Given the description of an element on the screen output the (x, y) to click on. 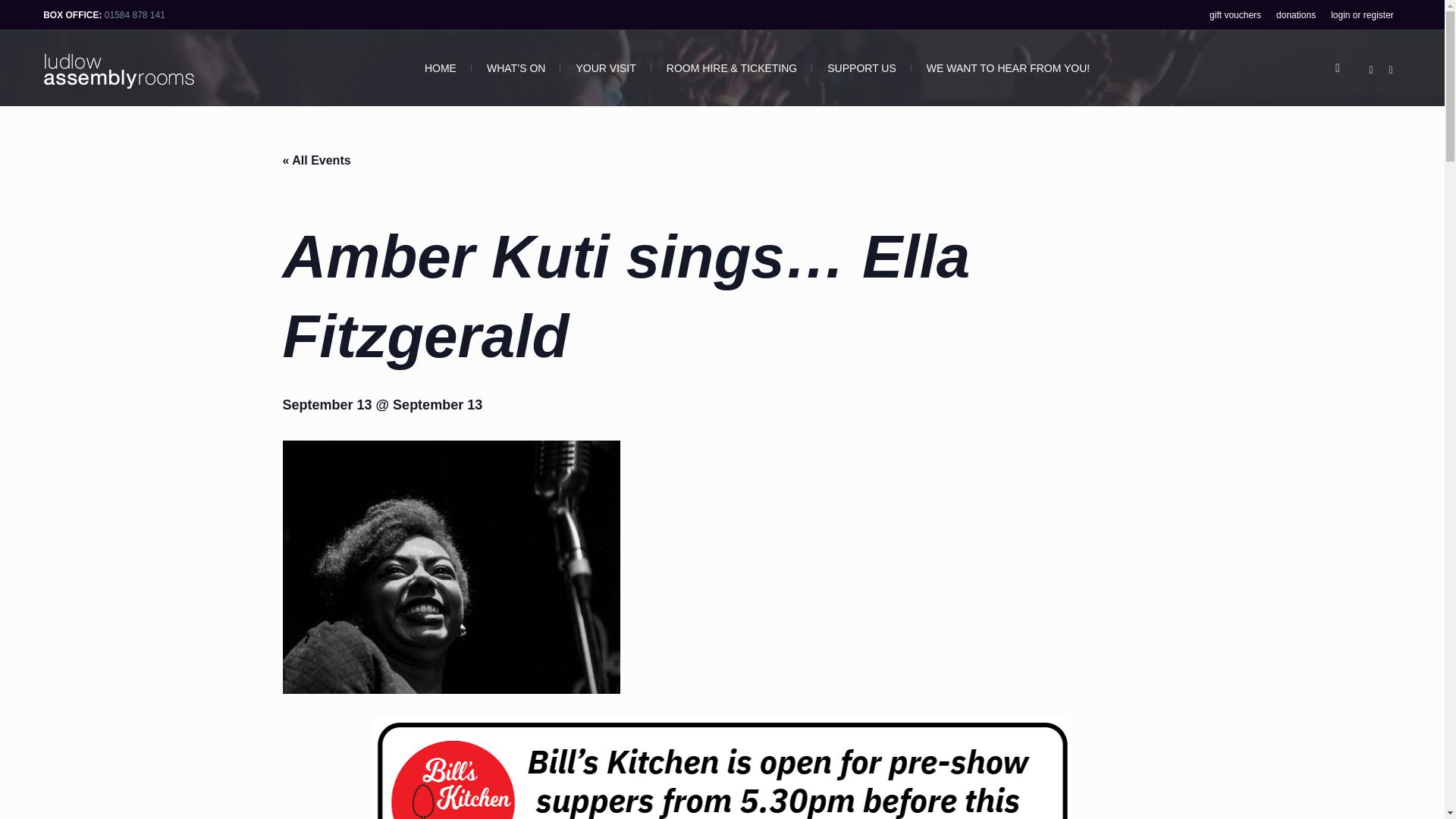
YOUR VISIT (605, 68)
login or register (1361, 14)
donations (1295, 14)
LAR Instagram (1390, 70)
01584 878 141 (134, 14)
gift vouchers (1235, 14)
LAR Facebook (1370, 70)
SUPPORT US (861, 68)
